Given the description of an element on the screen output the (x, y) to click on. 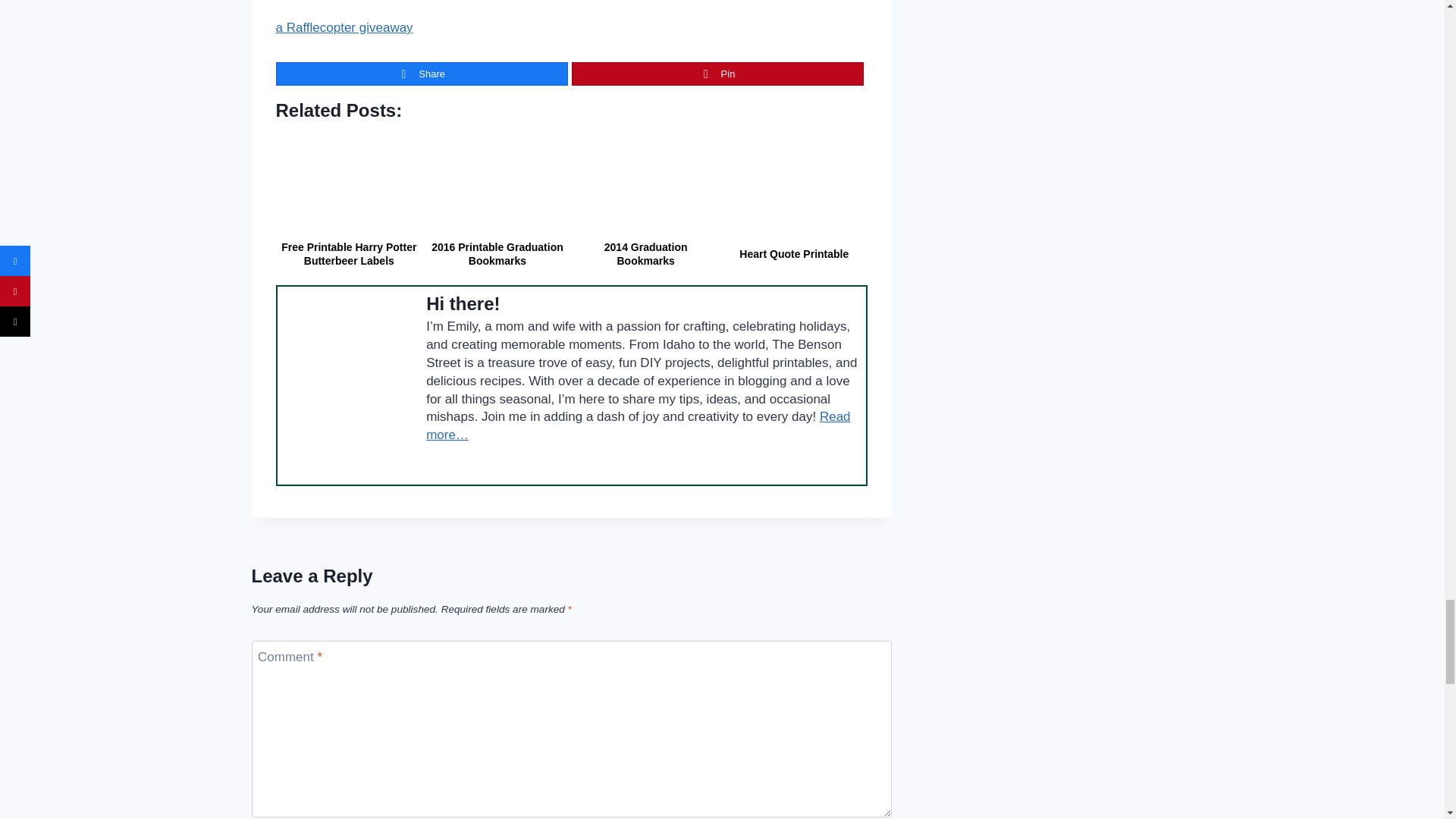
2014 Graduation Bookmarks (646, 183)
Heart Quote Printable (793, 183)
Free Printable Harry Potter Butterbeer Labels (349, 183)
2016 Printable Graduation Bookmarks (497, 183)
